Given the description of an element on the screen output the (x, y) to click on. 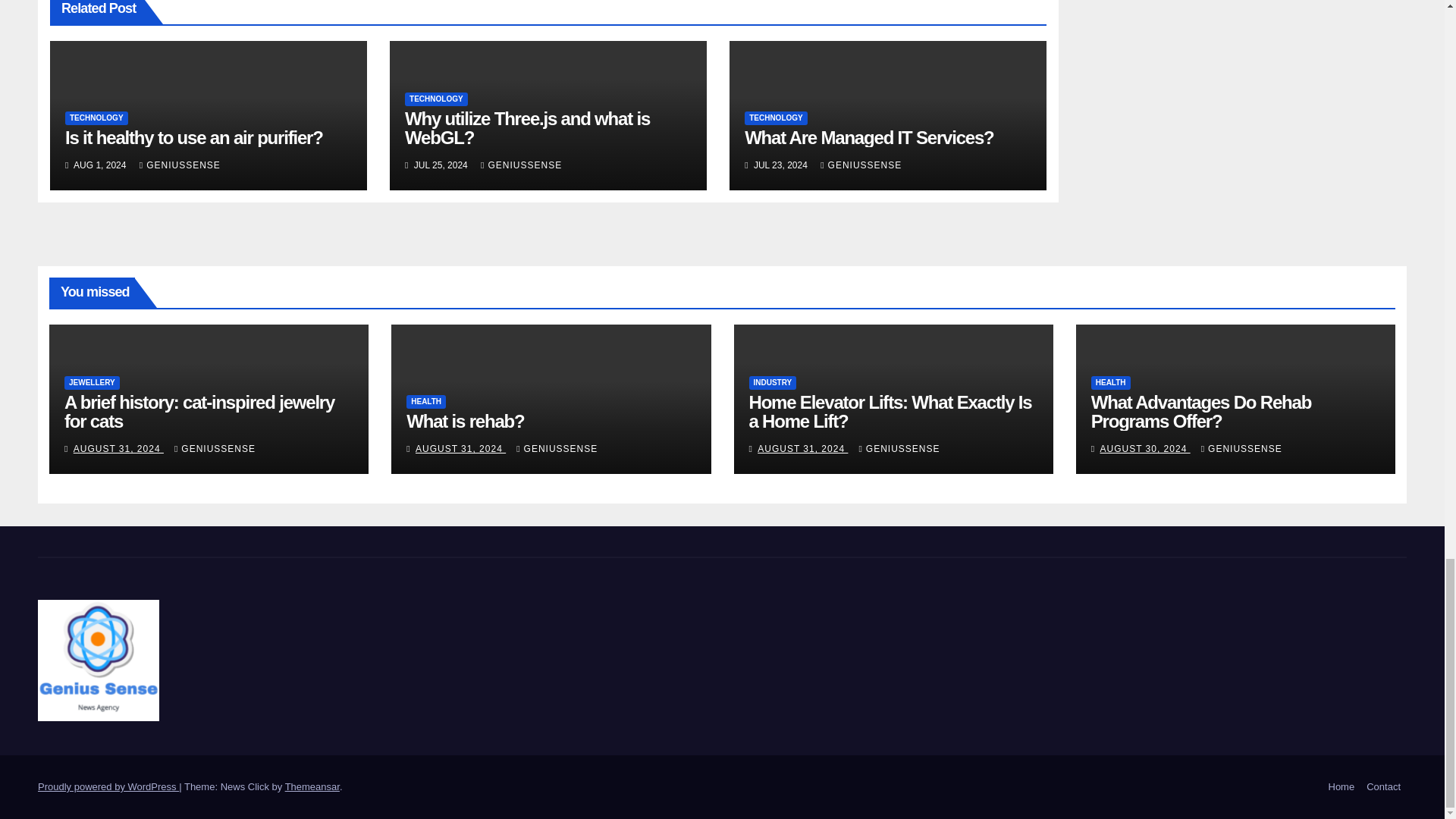
Permalink to: What Are Managed IT Services? (868, 137)
Why utilize Three.js and what is WebGL? (526, 128)
Is it healthy to use an air purifier? (194, 137)
TECHNOLOGY (776, 118)
Permalink to: Why utilize Three.js and what is WebGL? (526, 128)
GENIUSSENSE (521, 164)
JEWELLERY (91, 382)
GENIUSSENSE (180, 164)
AUGUST 31, 2024 (118, 448)
